Given the description of an element on the screen output the (x, y) to click on. 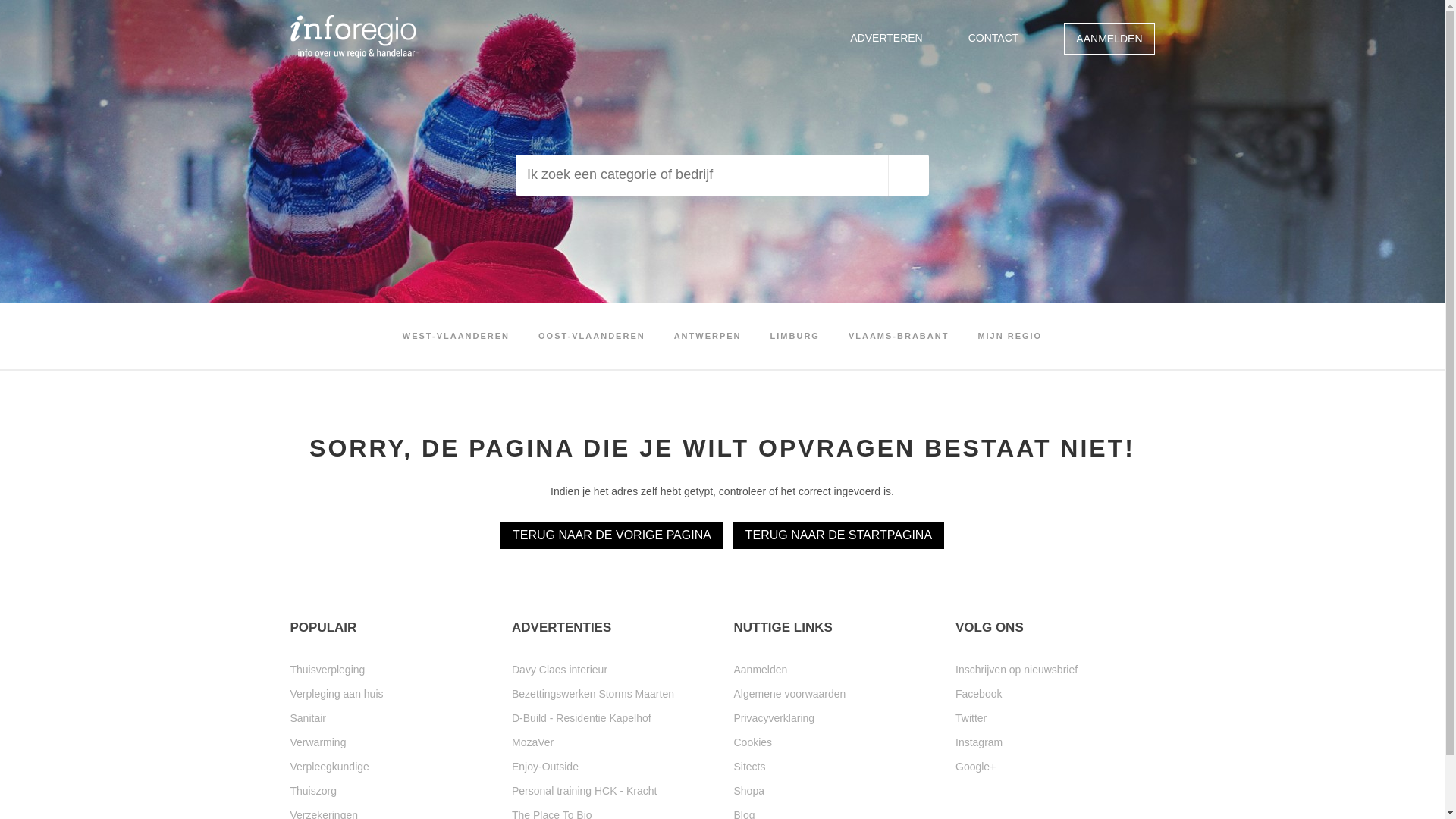
LIMBURG Element type: text (794, 336)
Enjoy-Outside Element type: text (611, 766)
D-Build - Residentie Kapelhof Element type: text (611, 718)
ANTWERPEN Element type: text (707, 336)
Inschrijven op nieuwsbrief Element type: text (1054, 669)
CONTACT Element type: text (993, 38)
ADVERTEREN Element type: text (886, 38)
Facebook Element type: text (1054, 693)
Verwarming Element type: text (389, 742)
Twitter Element type: text (1054, 718)
Thuisverpleging Element type: text (389, 669)
TERUG NAAR DE STARTPAGINA Element type: text (838, 535)
WEST-VLAANDEREN Element type: text (455, 336)
Sitects Element type: text (833, 766)
AANMELDEN Element type: text (1108, 38)
Algemene voorwaarden Element type: text (833, 693)
Thuiszorg Element type: text (389, 790)
Verpleegkundige Element type: text (389, 766)
Verpleging aan huis Element type: text (389, 693)
TERUG NAAR DE VORIGE PAGINA Element type: text (611, 535)
Sanitair Element type: text (389, 718)
Personal training HCK - Kracht Element type: text (611, 790)
Shopa Element type: text (833, 790)
Aanmelden Element type: text (833, 669)
MozaVer Element type: text (611, 742)
ZOEKEN Element type: text (908, 174)
Davy Claes interieur Element type: text (611, 669)
Cookies Element type: text (833, 742)
Privacyverklaring Element type: text (833, 718)
VLAAMS-BRABANT Element type: text (898, 336)
Instagram Element type: text (1054, 742)
Google+ Element type: text (1054, 766)
Bezettingswerken Storms Maarten Element type: text (611, 693)
OOST-VLAANDEREN Element type: text (591, 336)
